Given the description of an element on the screen output the (x, y) to click on. 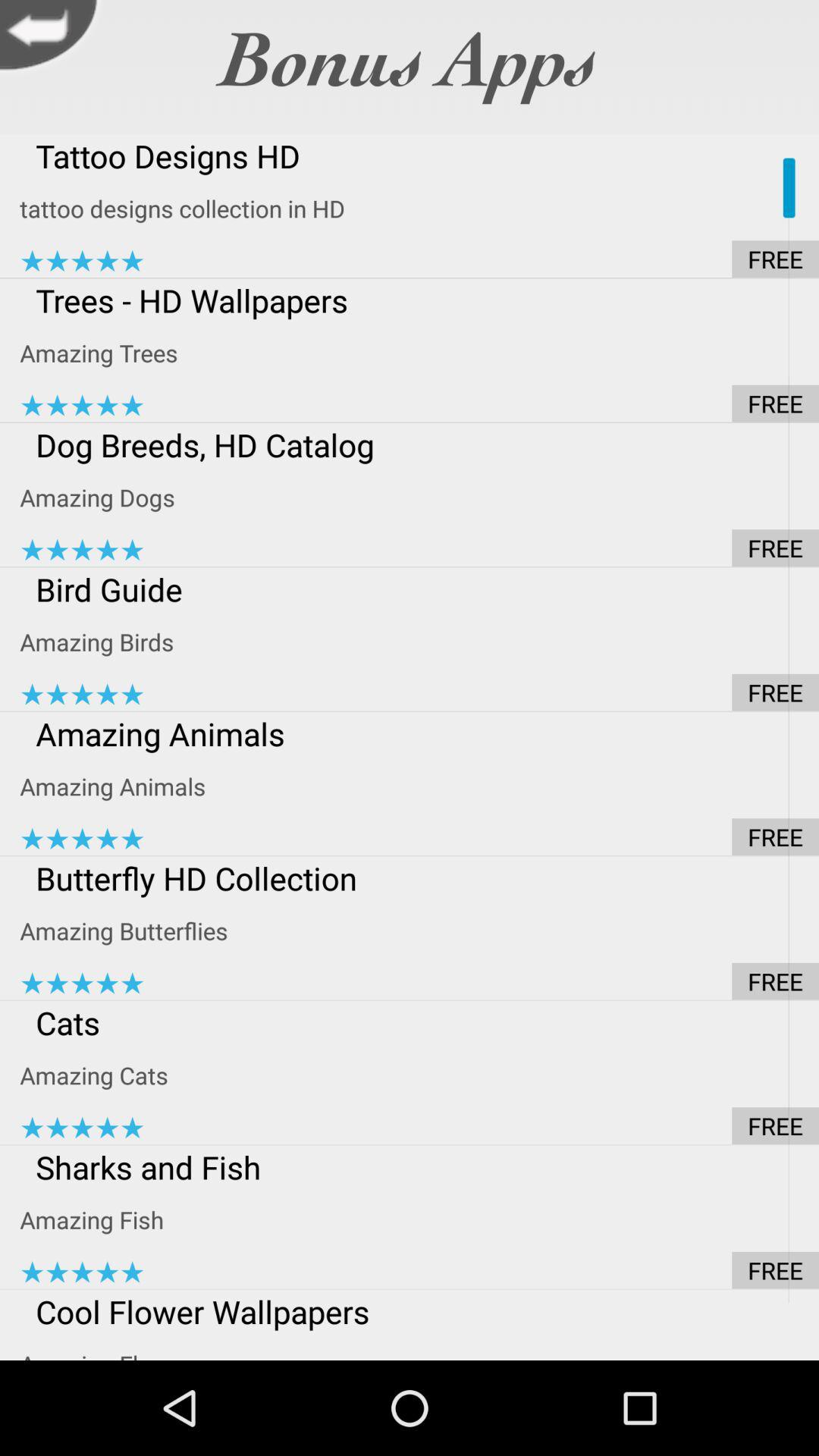
tap icon at the top left corner (52, 38)
